Given the description of an element on the screen output the (x, y) to click on. 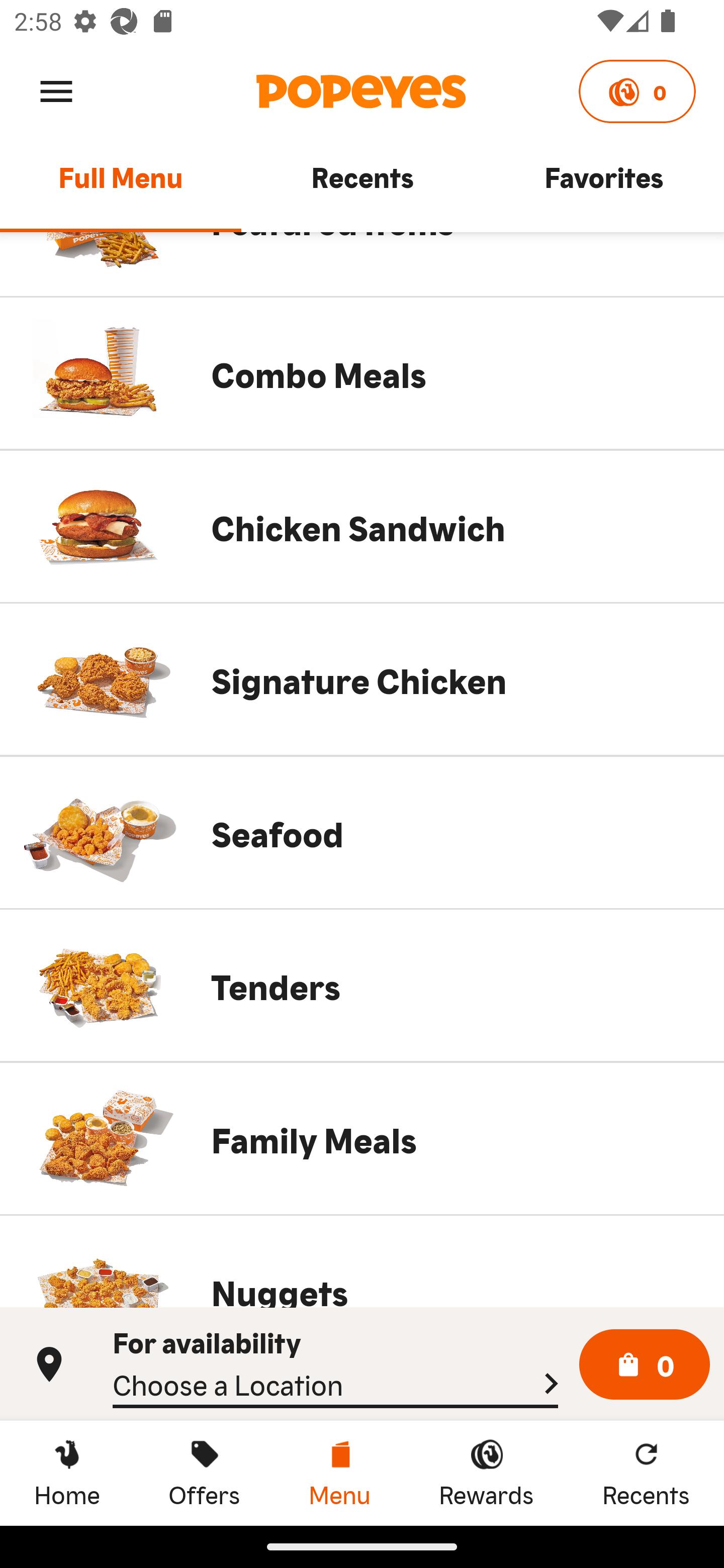
Menu  (56, 90)
0 Points 0 (636, 91)
Full Menu (120, 186)
Recents (361, 186)
Favorites (603, 186)
Seafood, Seafood Seafood Seafood (362, 832)
Chicken Tenders, Tenders Chicken Tenders Tenders (362, 985)
Nuggets, Nuggets Nuggets Nuggets (362, 1261)
0 Cart total  0 (644, 1364)
Home Home Home (66, 1472)
Offers Offers Offers (203, 1472)
Menu, current page Menu Menu, current page (339, 1472)
Rewards Rewards Rewards (486, 1472)
Recents Recents Recents (646, 1472)
